Given the description of an element on the screen output the (x, y) to click on. 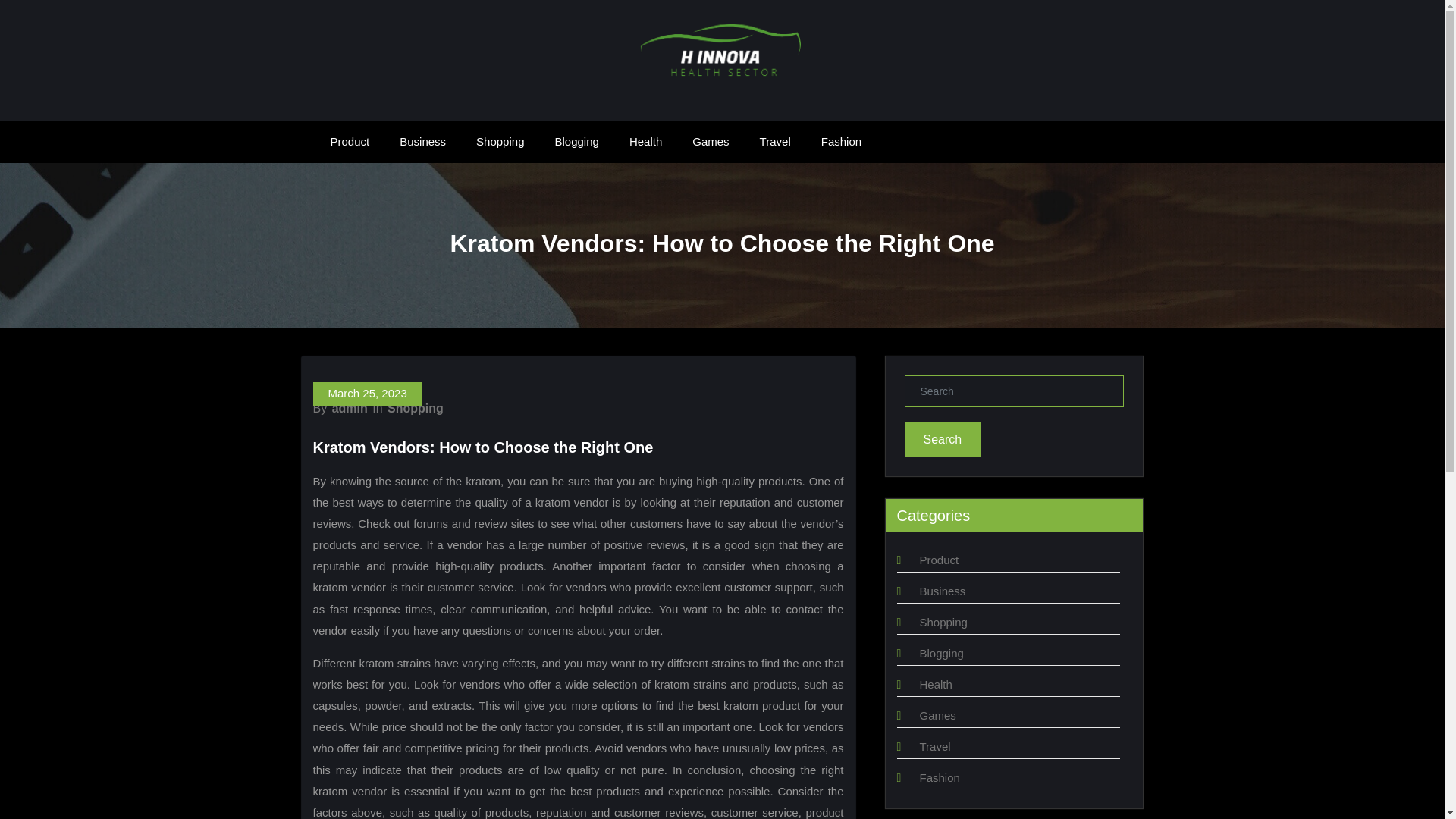
Travel (775, 141)
Fashion (938, 777)
Business (422, 141)
Travel (934, 746)
Shopping (942, 621)
admin (349, 408)
Blogging (940, 653)
Fashion (841, 141)
Games (936, 715)
Business (941, 590)
Games (710, 141)
Health (645, 141)
March 25, 2023 (366, 394)
Product (938, 559)
Shopping (499, 141)
